Given the description of an element on the screen output the (x, y) to click on. 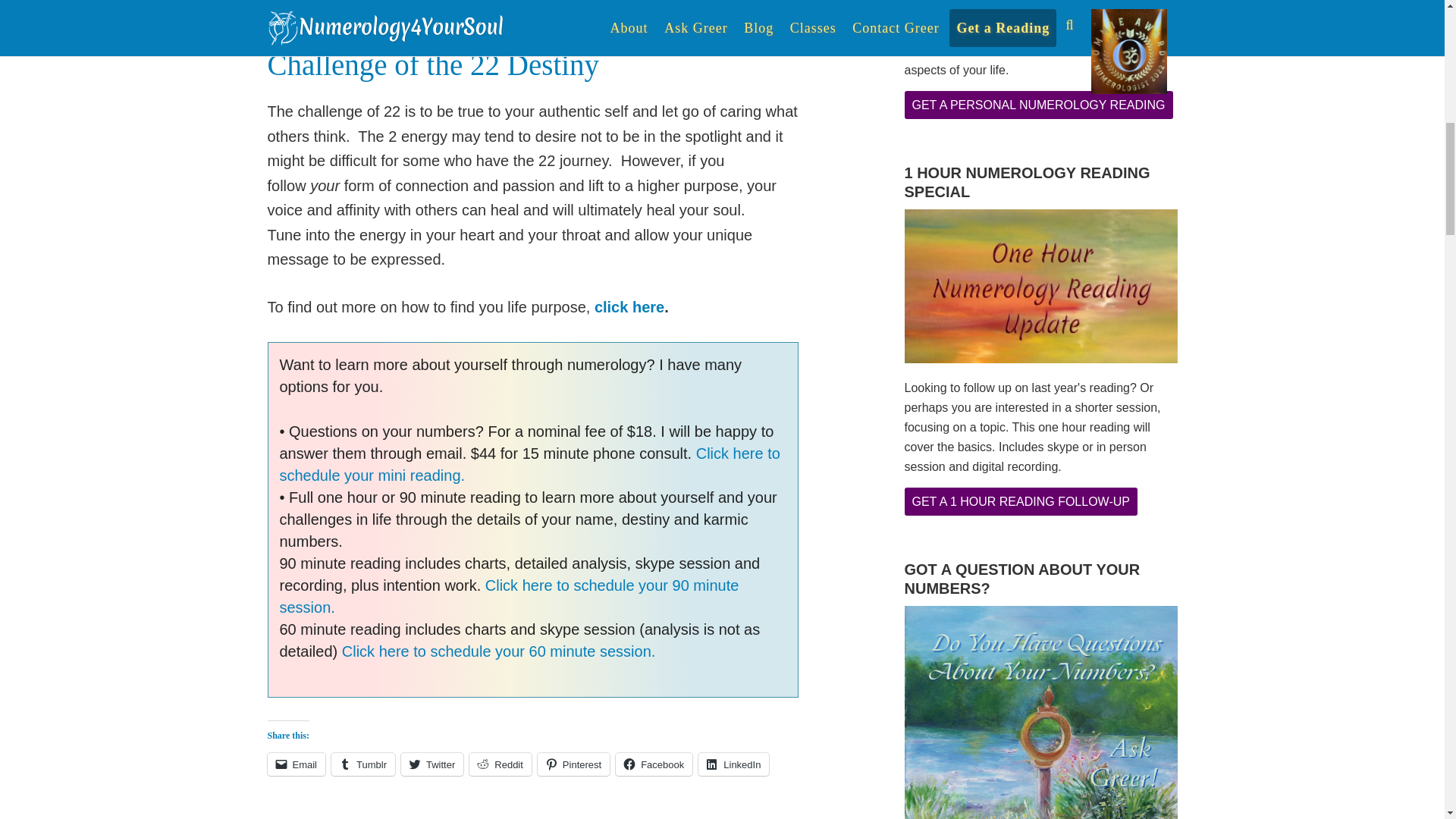
Click here to schedule your 90 minute session. (508, 596)
Twitter (432, 763)
Click here to schedule your mini reading. (528, 464)
LinkedIn (733, 763)
click here (628, 306)
Reddit (499, 763)
Click to share on Twitter (432, 763)
Click here to schedule your 60 minute session. (499, 651)
How can I find my life purpose through numerology? (628, 306)
A Numerology Reading Can Transform Your Life (508, 596)
Click to share on Tumblr (362, 763)
Click to share on Pinterest (573, 763)
Tumblr (362, 763)
Facebook (654, 763)
Click to email a link to a friend (295, 763)
